Given the description of an element on the screen output the (x, y) to click on. 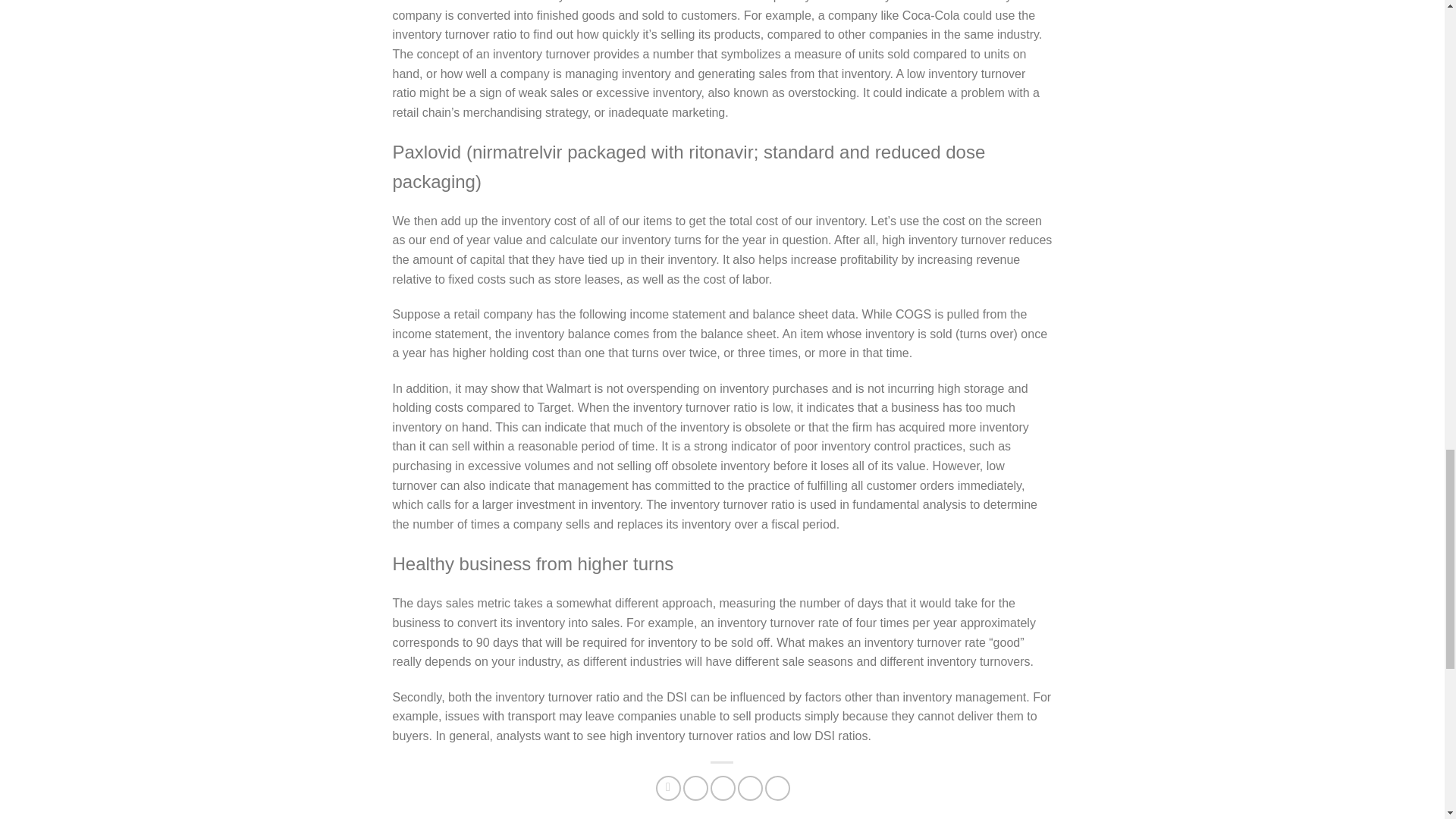
Share on LinkedIn (777, 787)
Pin no Pinterest (750, 787)
Compartilhar no Twitter (694, 787)
Compartilhar no Facebook (668, 787)
Enviar por email para um amigo (722, 787)
